Given the description of an element on the screen output the (x, y) to click on. 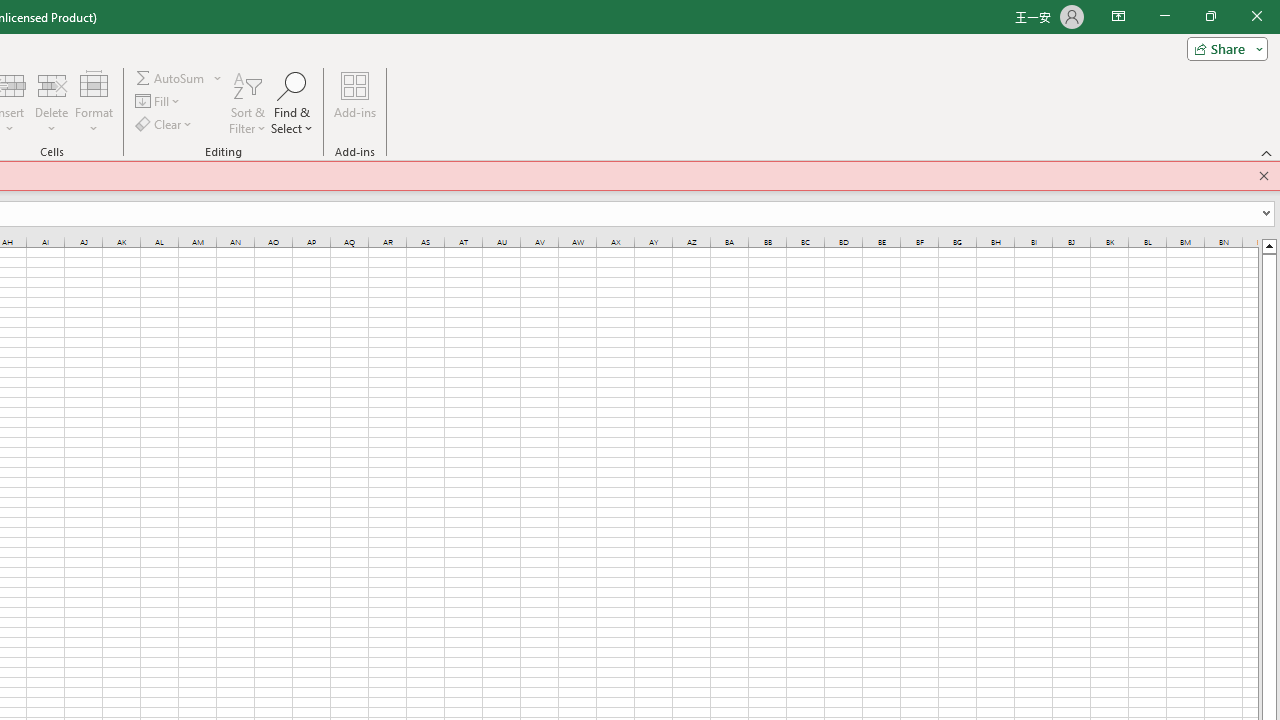
Restore Down (1210, 16)
Format (94, 102)
Line up (1268, 245)
Sort & Filter (247, 102)
Close this message (1263, 176)
